Given the description of an element on the screen output the (x, y) to click on. 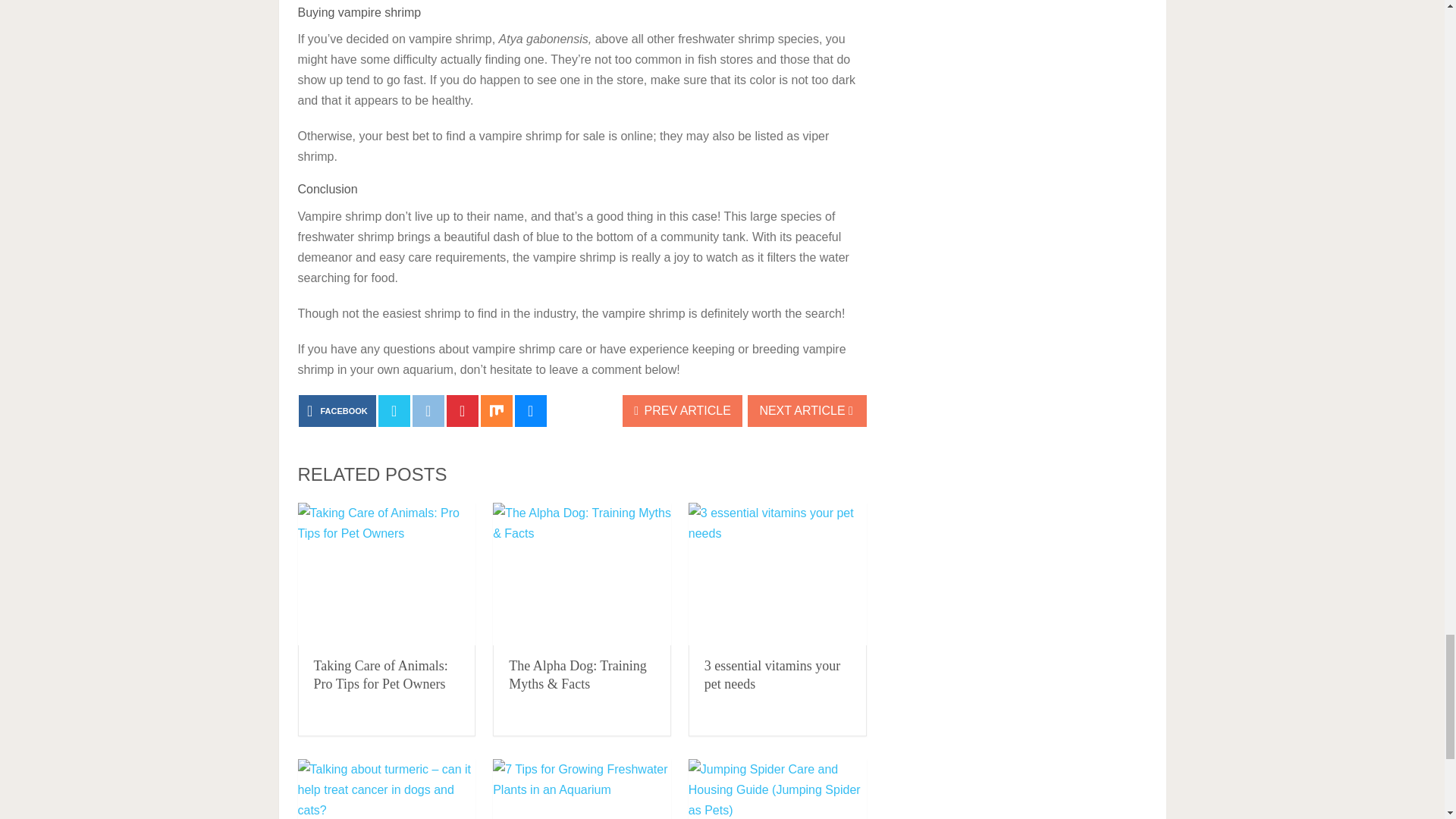
PREV ARTICLE (682, 410)
FACEBOOK (336, 410)
NEXT ARTICLE (807, 410)
3 essential vitamins your pet needs (777, 574)
Taking Care of Animals: Pro Tips for Pet Owners (386, 574)
Taking Care of Animals: Pro Tips for Pet Owners (381, 674)
